Given the description of an element on the screen output the (x, y) to click on. 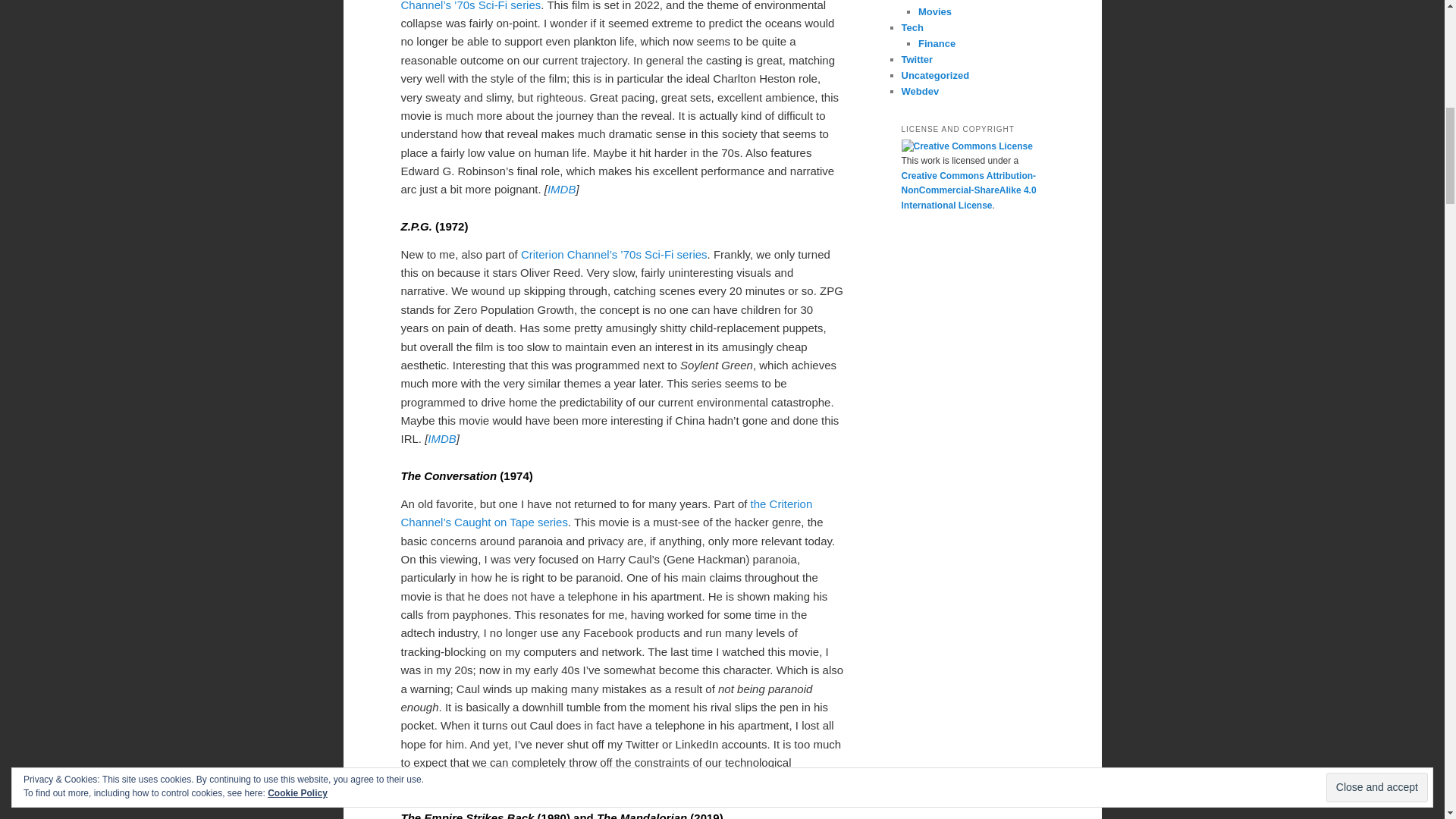
IMDB (442, 438)
IMDB (561, 188)
IMDB (490, 780)
